Given the description of an element on the screen output the (x, y) to click on. 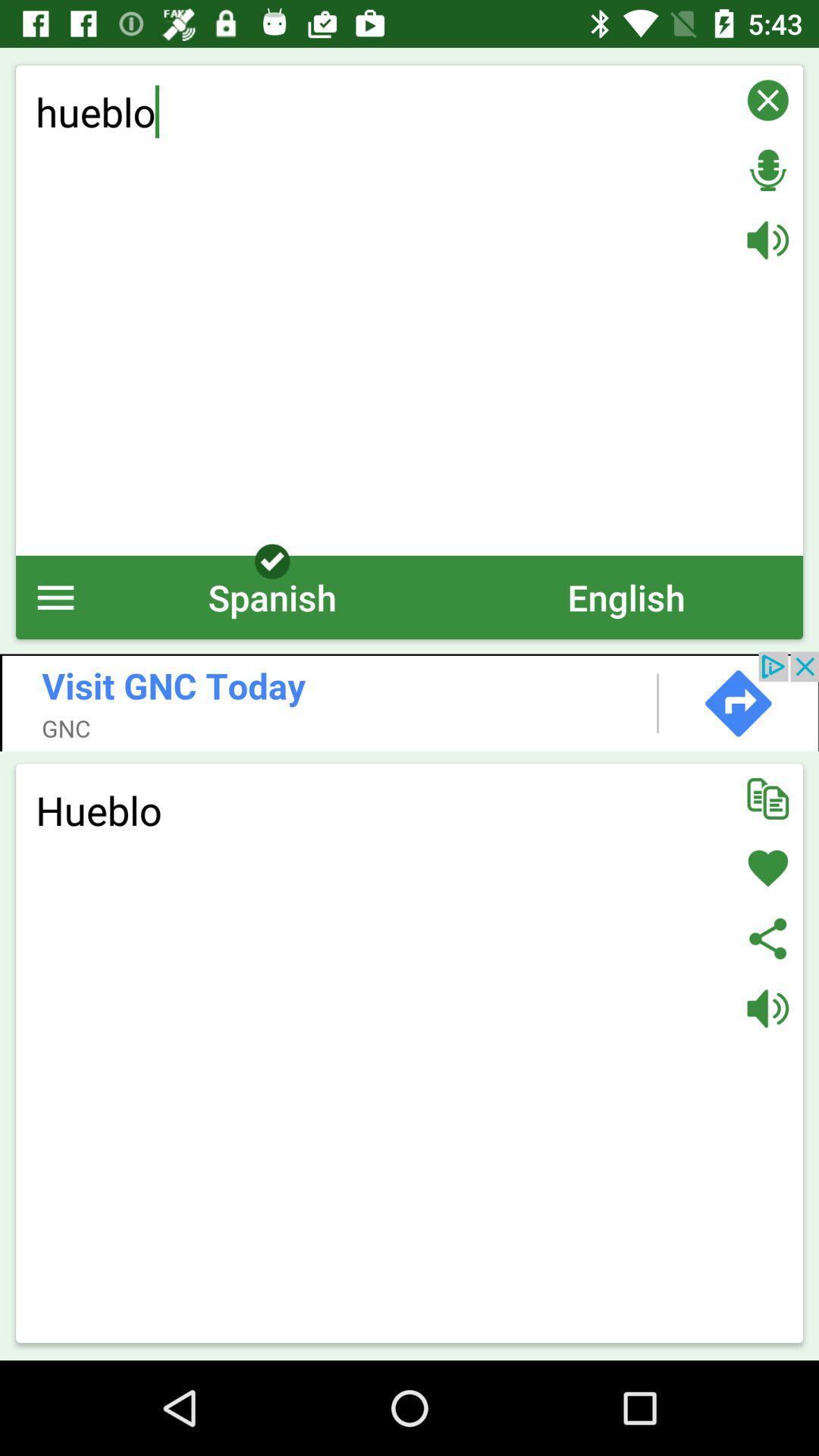
tap icon below the hueblo item (626, 597)
